Given the description of an element on the screen output the (x, y) to click on. 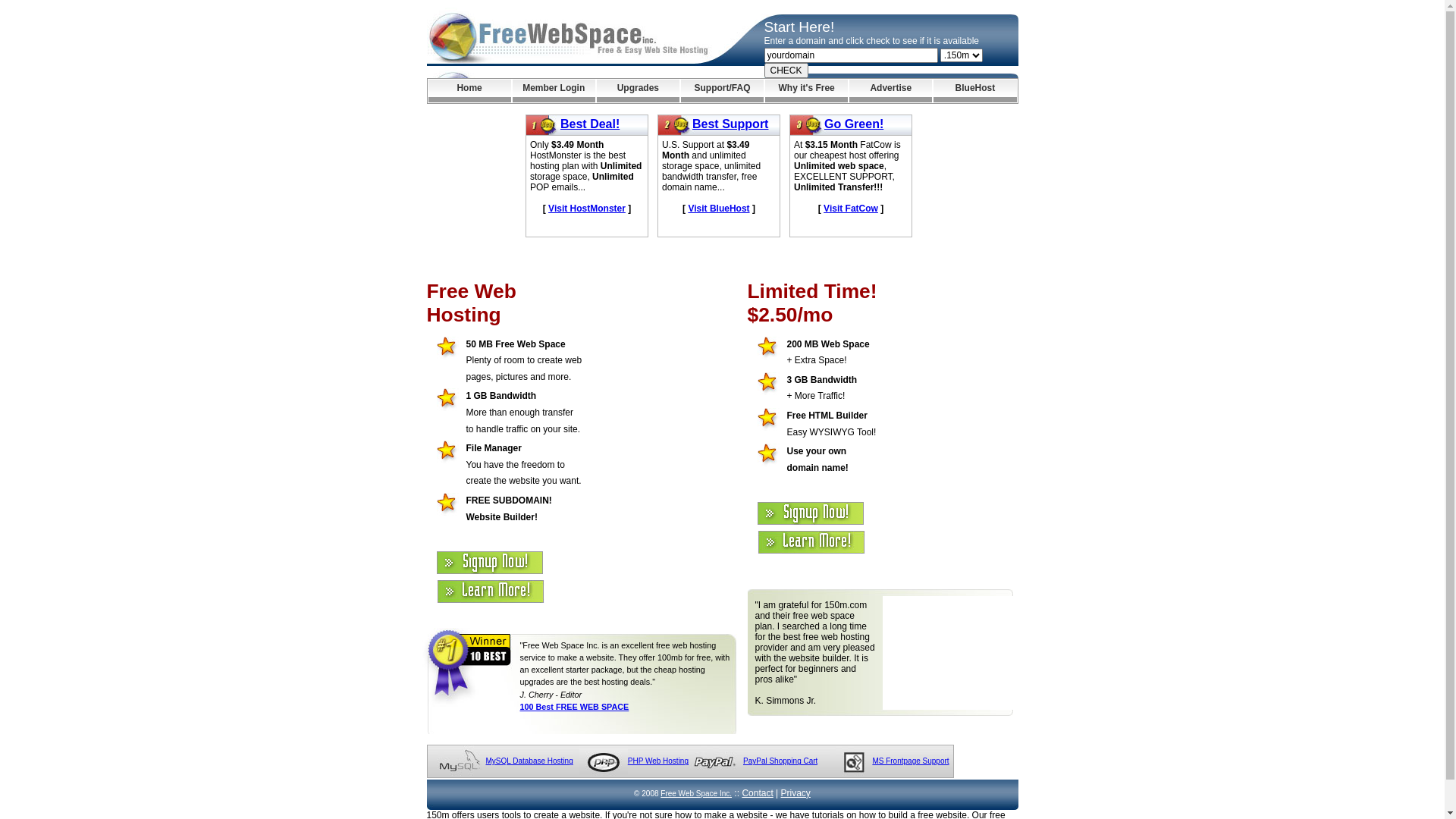
BlueHost Element type: text (974, 90)
MySQL Database Hosting Element type: text (528, 760)
Member Login Element type: text (553, 90)
Privacy Element type: text (795, 792)
100 Best FREE WEB SPACE Element type: text (574, 706)
CHECK Element type: text (786, 70)
Free Web Space Inc. Element type: text (695, 793)
MS Frontpage Support Element type: text (910, 760)
Advertise Element type: text (890, 90)
Upgrades Element type: text (637, 90)
Contact Element type: text (756, 792)
Home Element type: text (468, 90)
PayPal Shopping Cart Element type: text (780, 760)
Why it's Free Element type: text (806, 90)
Support/FAQ Element type: text (721, 90)
PHP Web Hosting Element type: text (657, 760)
